Given the description of an element on the screen output the (x, y) to click on. 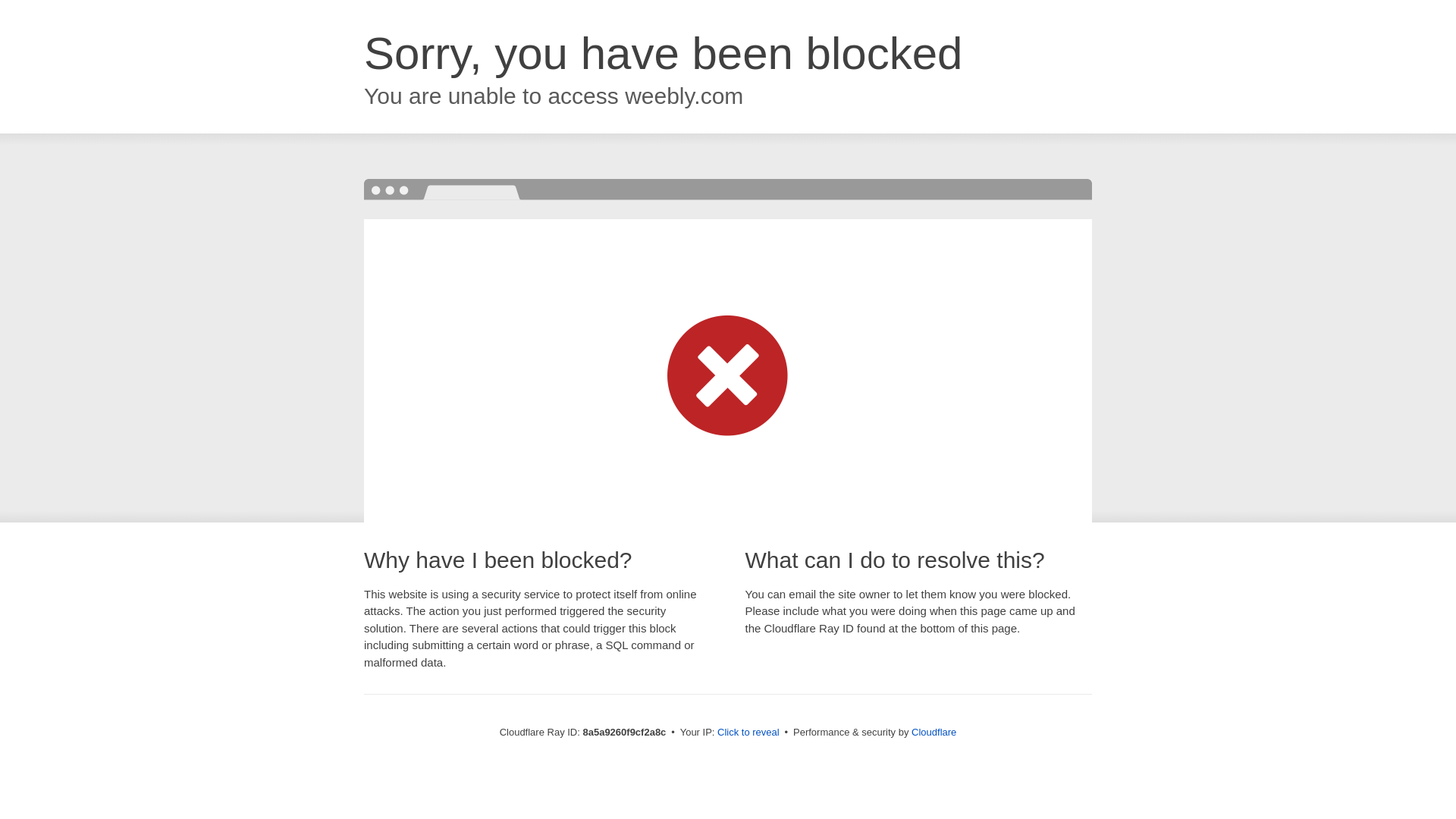
Cloudflare (933, 731)
Click to reveal (747, 732)
